Given the description of an element on the screen output the (x, y) to click on. 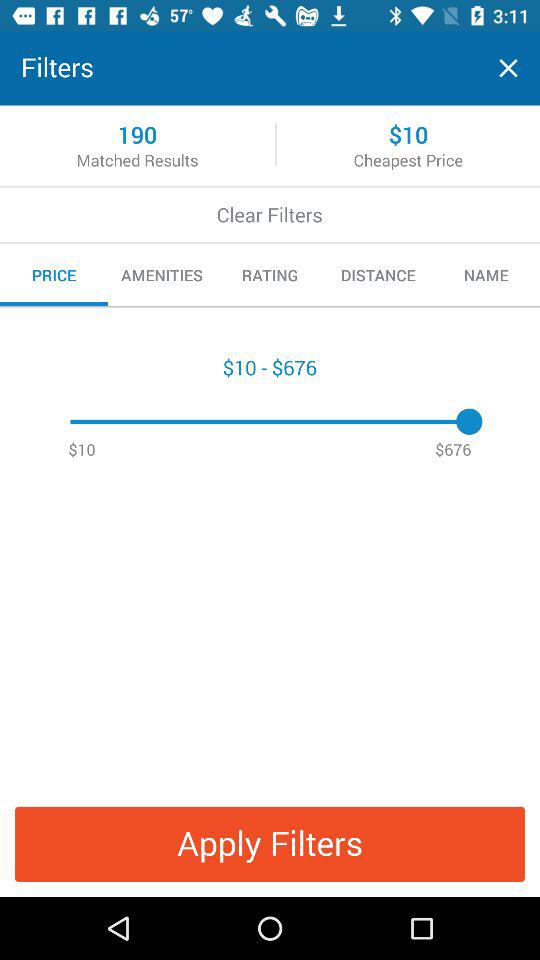
turn off item next to the rating (378, 275)
